Given the description of an element on the screen output the (x, y) to click on. 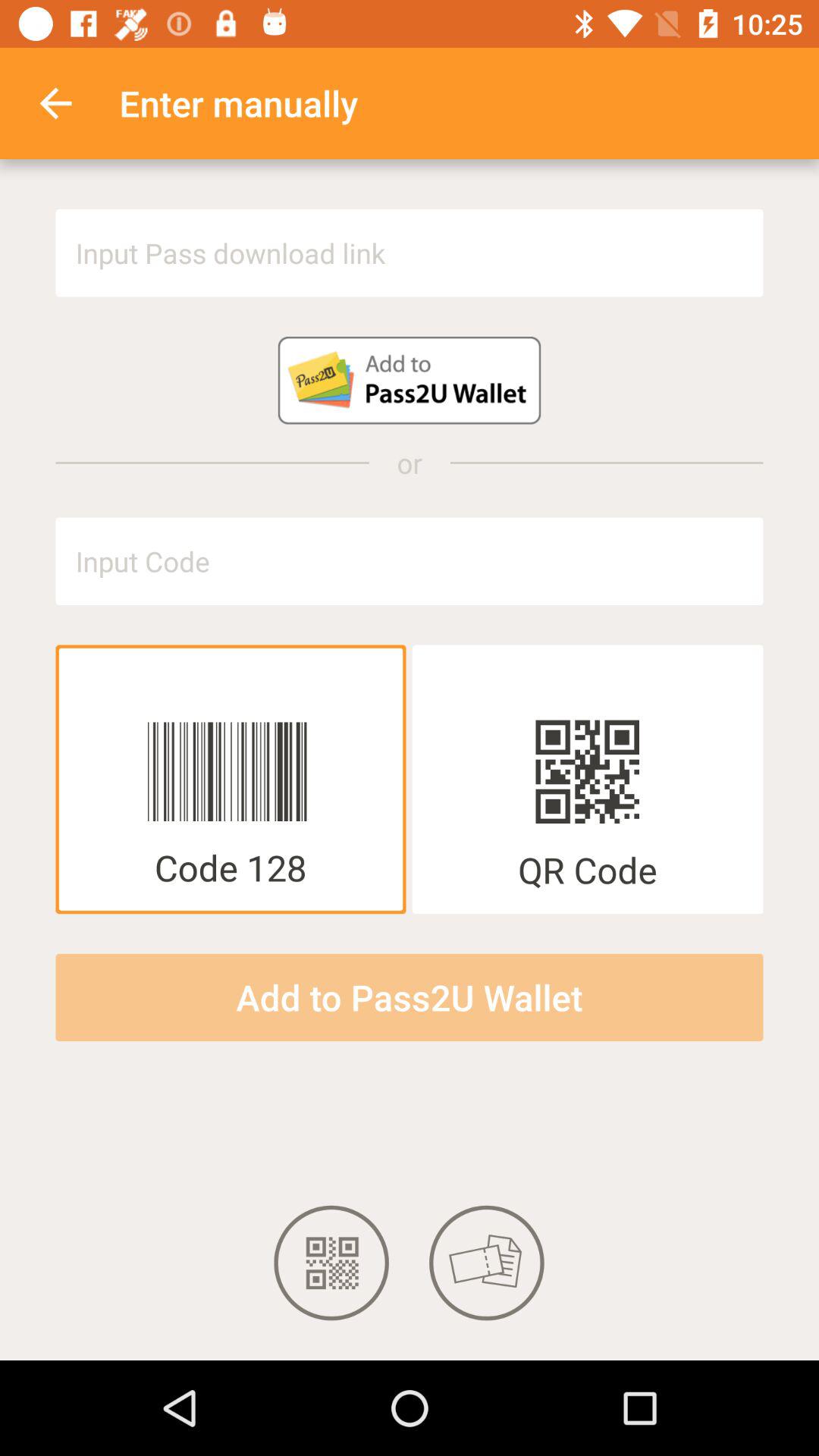
click on the text which is below enter manually (409, 253)
click qr code icon (331, 1262)
click on the input code (409, 561)
click on button below the qr code (409, 997)
